Given the description of an element on the screen output the (x, y) to click on. 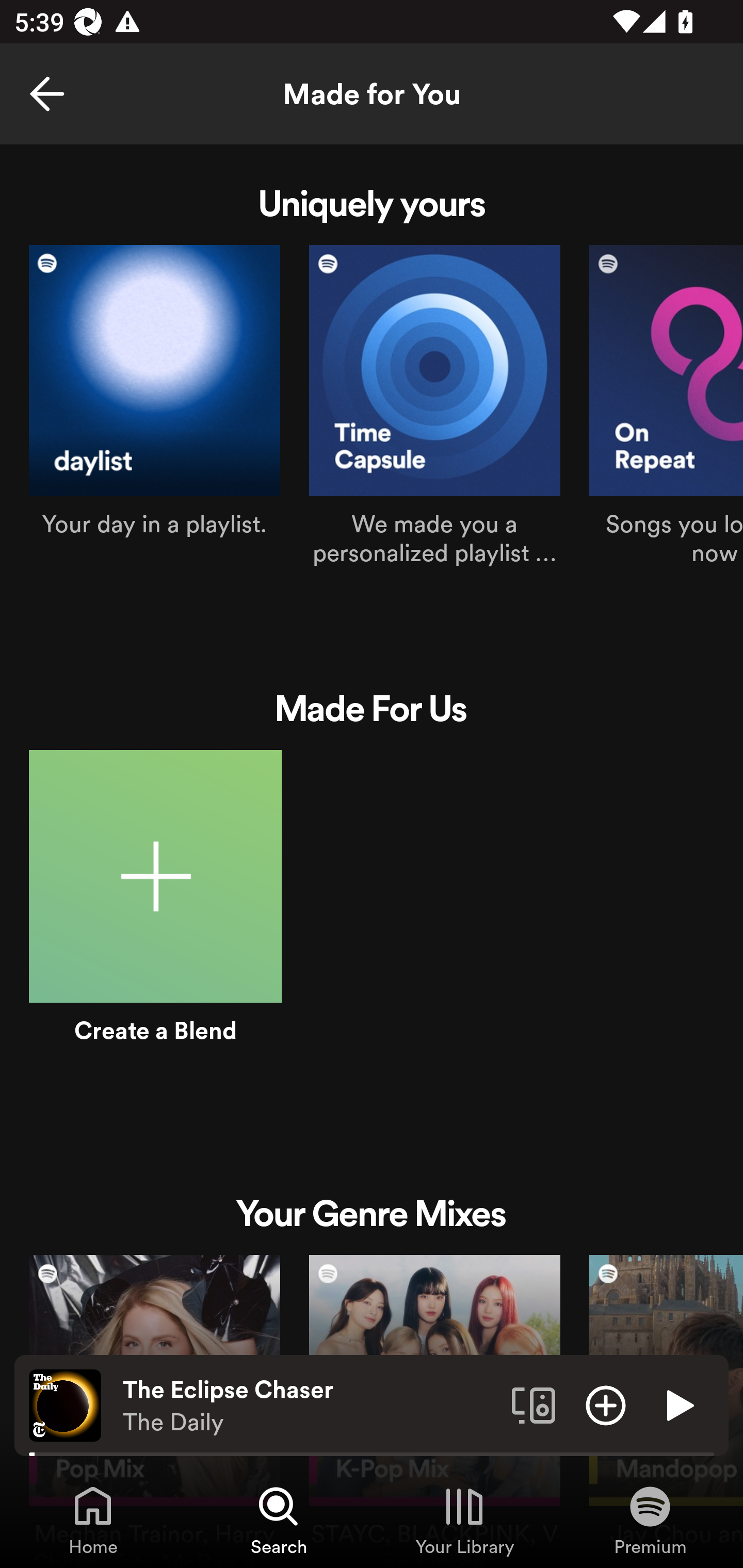
Back (46, 93)
Create a Blend
 Create a Blend (154, 918)
The Eclipse Chaser The Daily (309, 1405)
The cover art of the currently playing track (64, 1404)
Connect to a device. Opens the devices menu (533, 1404)
Add item (605, 1404)
Play (677, 1404)
Home, Tab 1 of 4 Home Home (92, 1519)
Search, Tab 2 of 4 Search Search (278, 1519)
Your Library, Tab 3 of 4 Your Library Your Library (464, 1519)
Premium, Tab 4 of 4 Premium Premium (650, 1519)
